Given the description of an element on the screen output the (x, y) to click on. 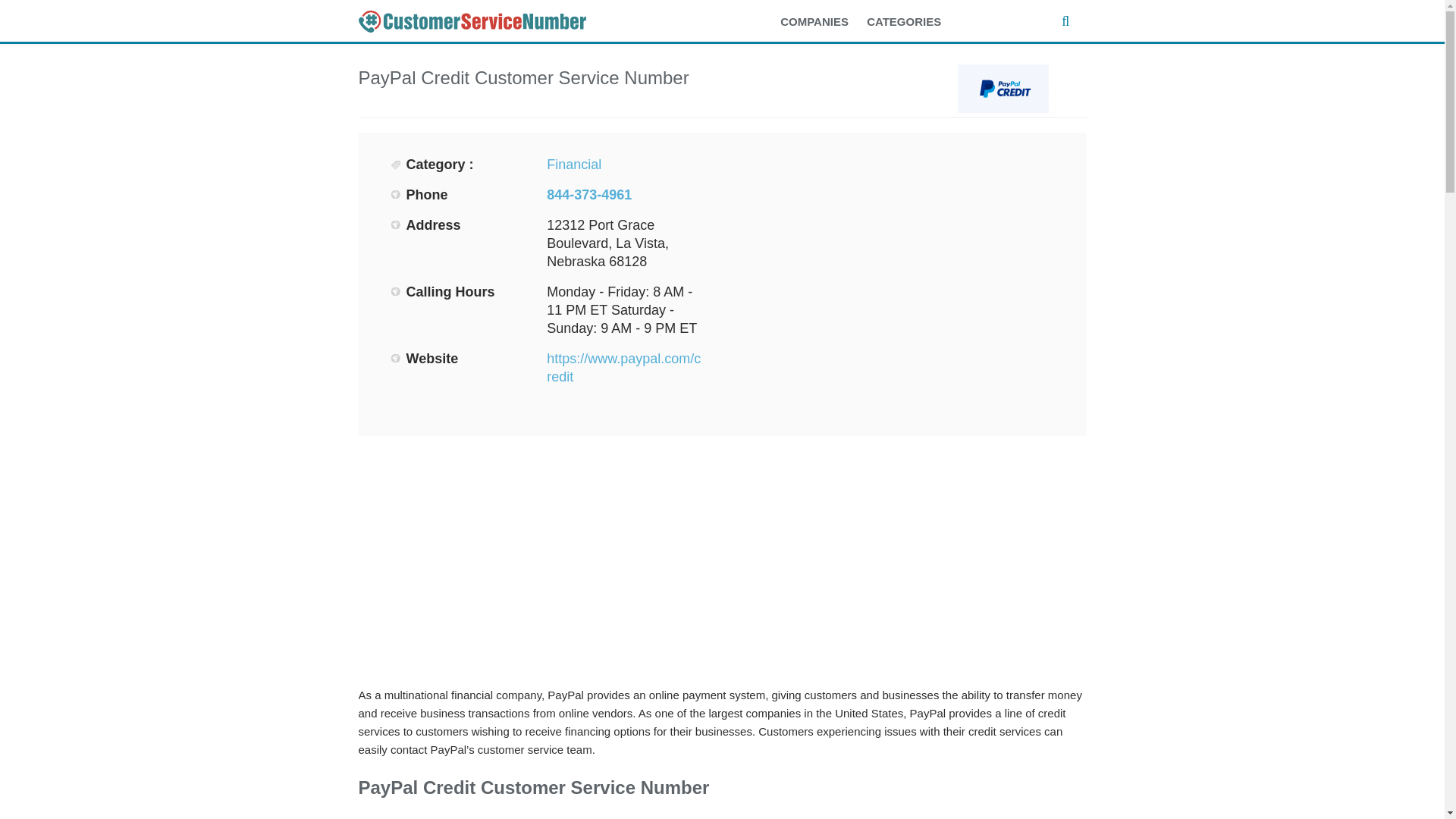
Financial (574, 164)
CATEGORIES (911, 21)
Advertisement (892, 261)
844-373-4961 (589, 194)
COMPANIES (821, 21)
